Given the description of an element on the screen output the (x, y) to click on. 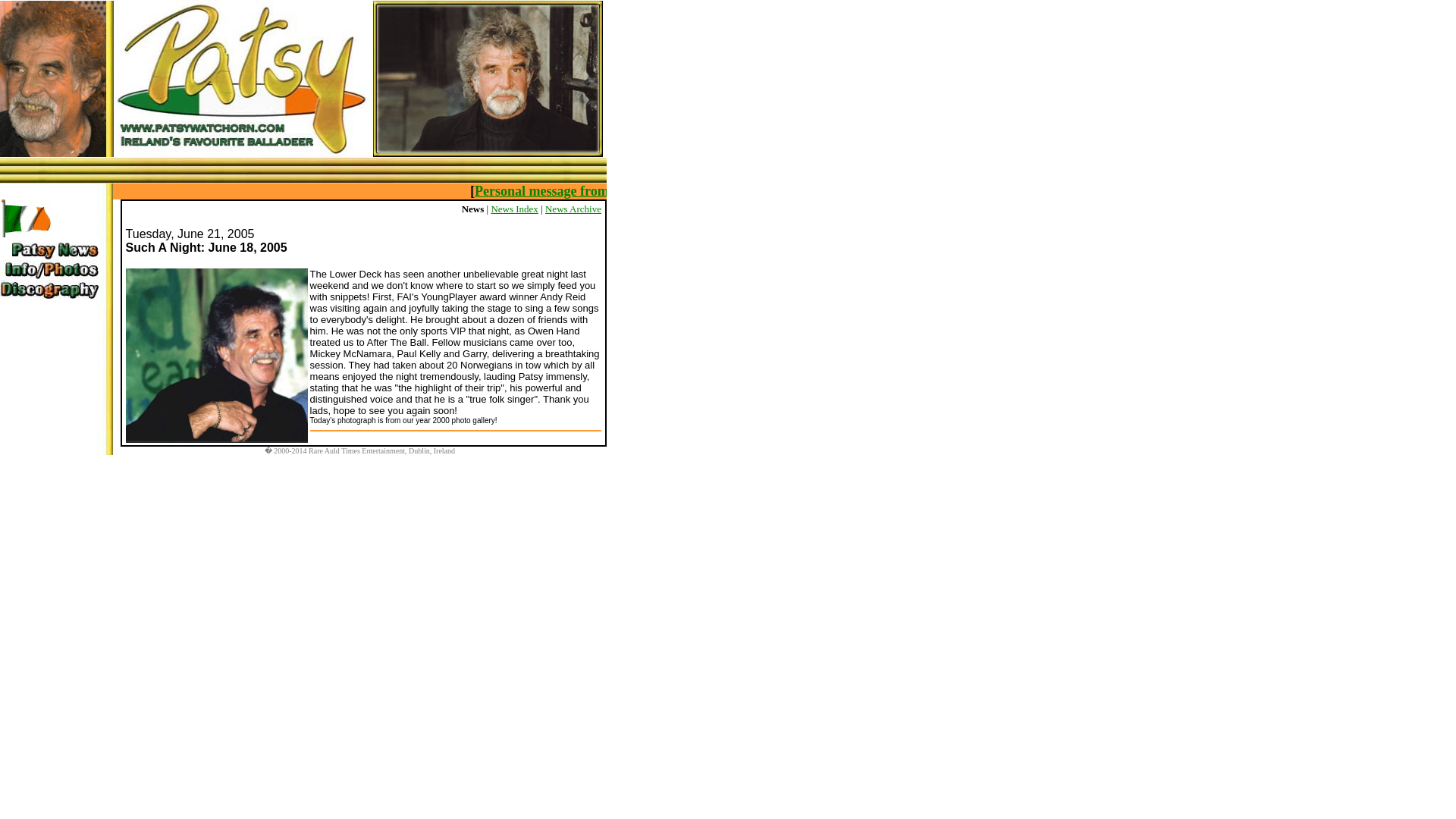
News Archive (572, 207)
Tuesday, June 21, 2005 (189, 233)
News Index (513, 208)
Personal message from Patsy to all his fans and friends (729, 191)
